Given the description of an element on the screen output the (x, y) to click on. 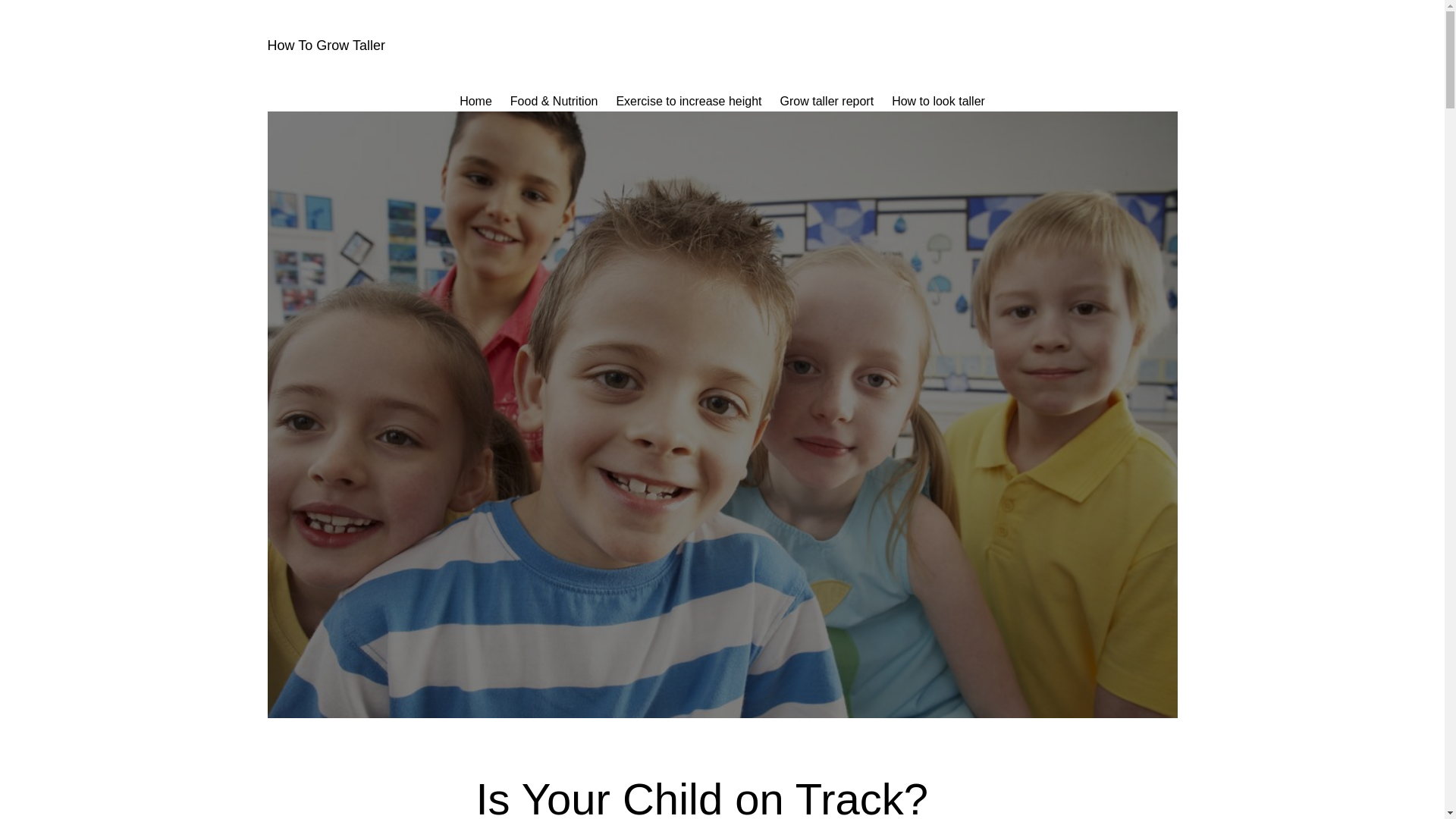
Exercise to increase height (688, 101)
Grow taller report (827, 101)
Home (476, 101)
How To Grow Taller (325, 45)
How to look taller (938, 101)
